Given the description of an element on the screen output the (x, y) to click on. 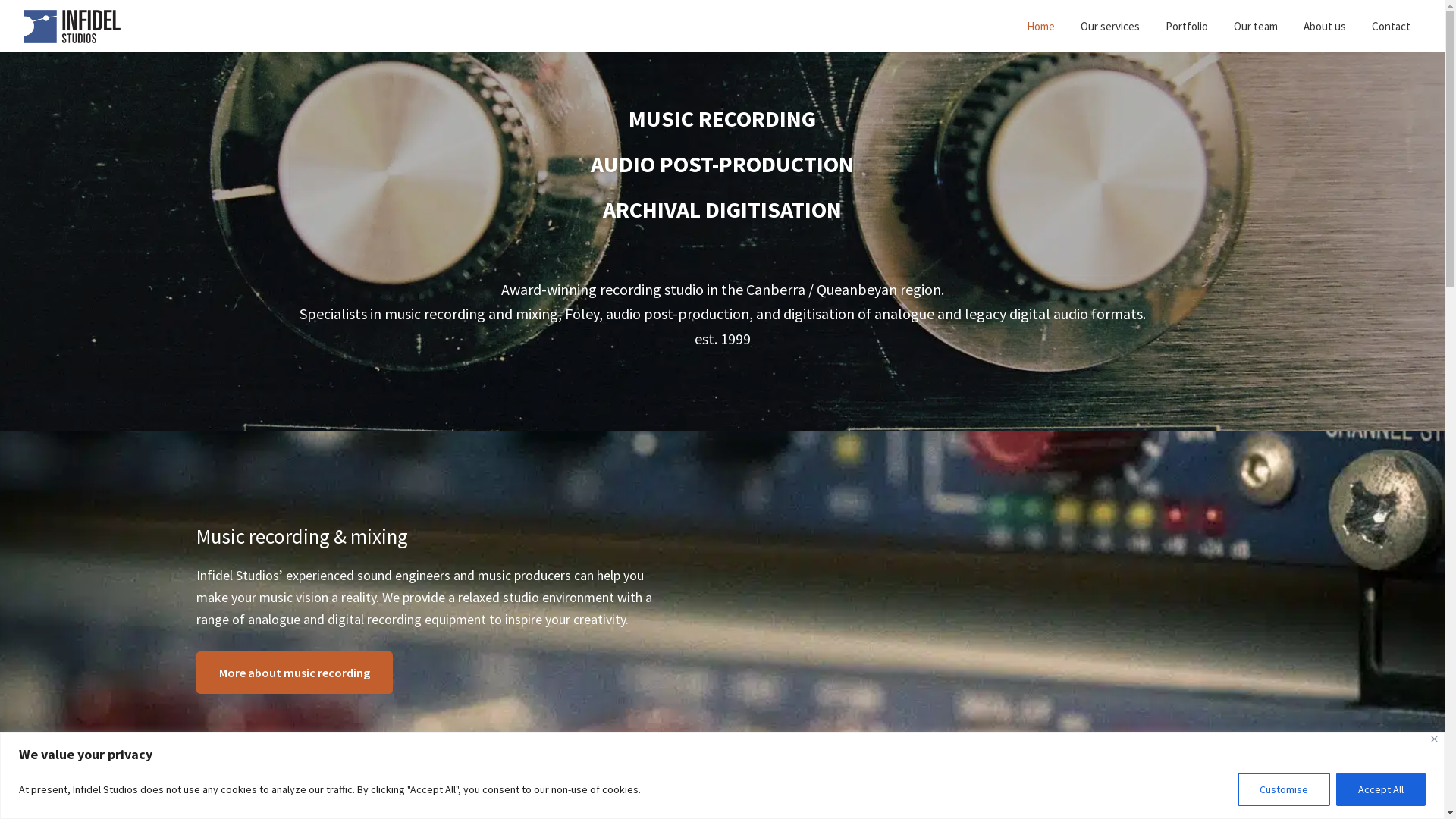
Our services Element type: text (1110, 25)
About us Element type: text (1324, 25)
Portfolio Element type: text (1186, 25)
Our team Element type: text (1255, 25)
Customise Element type: text (1283, 788)
More about music recording Element type: text (294, 672)
Accept All Element type: text (1380, 788)
Skip to primary navigation Element type: text (0, 0)
Contact Element type: text (1390, 25)
Home Element type: text (1040, 25)
